Given the description of an element on the screen output the (x, y) to click on. 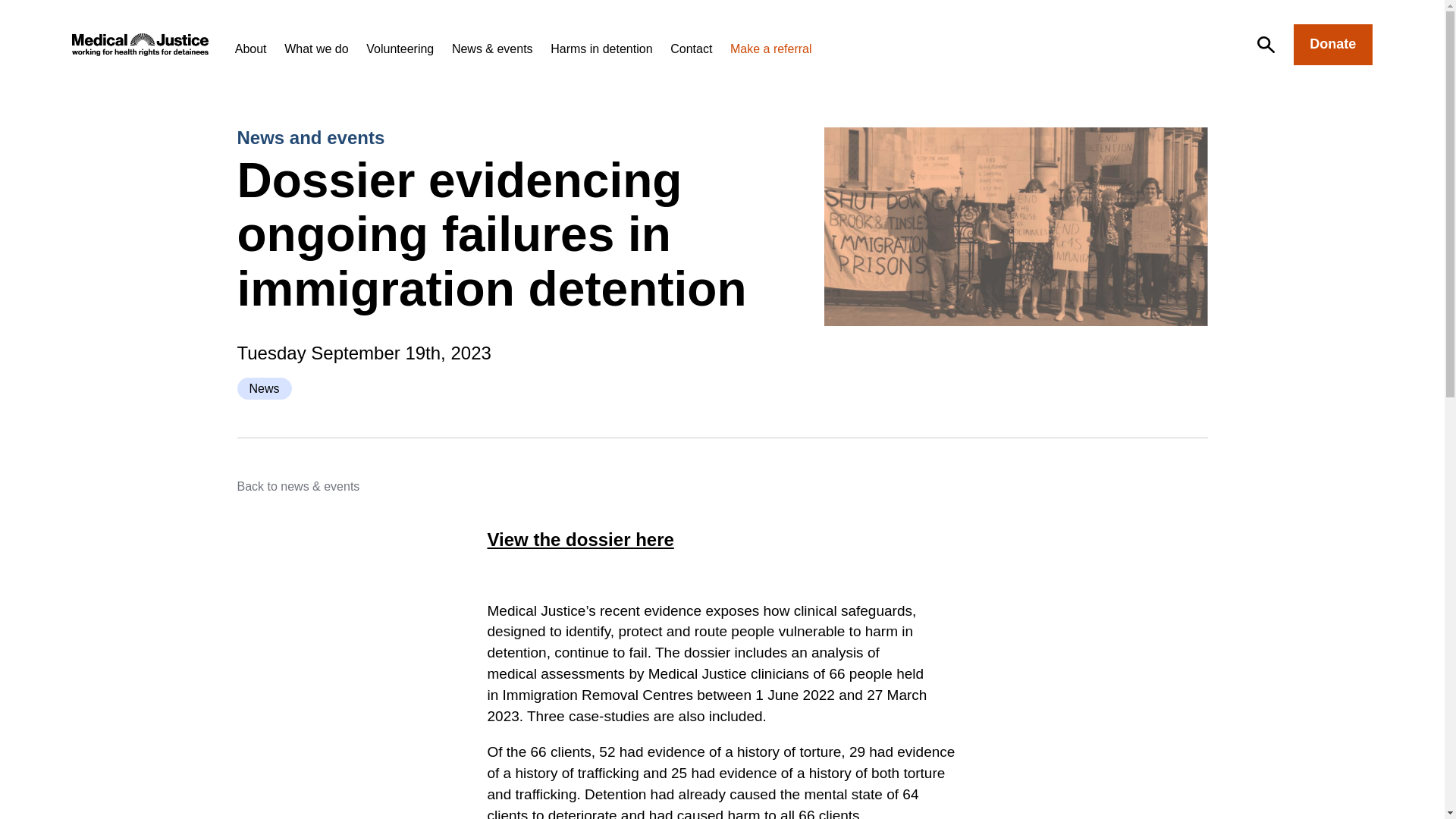
Make a referral (771, 48)
Harms in detention (601, 48)
Donate (1333, 44)
News and events (309, 138)
Volunteering (399, 48)
About (250, 48)
What we do (315, 48)
Skip to content (16, 11)
Contact (690, 48)
